Given the description of an element on the screen output the (x, y) to click on. 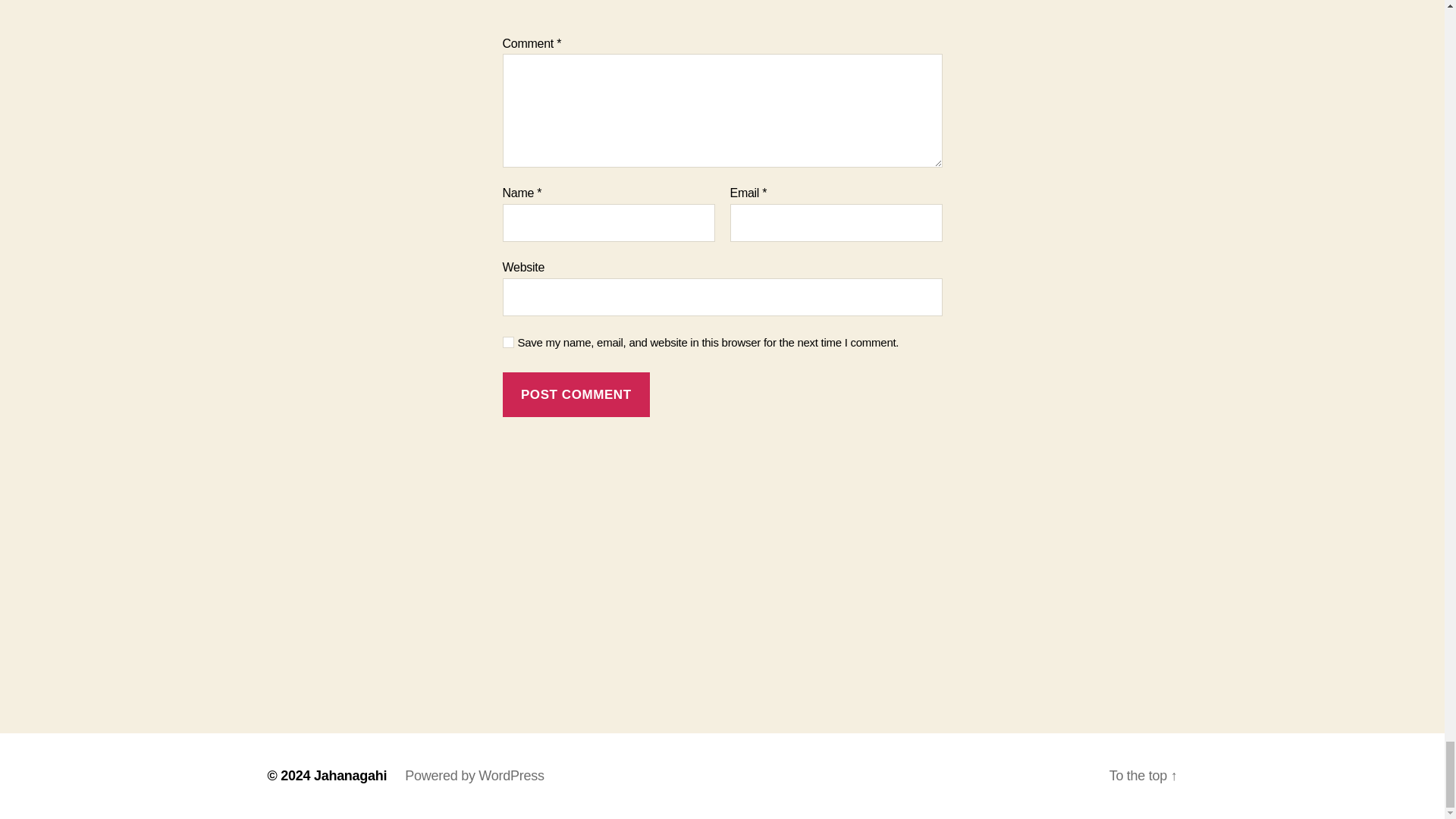
Post Comment (575, 394)
Jahanagahi (350, 775)
Post Comment (575, 394)
yes (507, 342)
Powered by WordPress (473, 775)
